Given the description of an element on the screen output the (x, y) to click on. 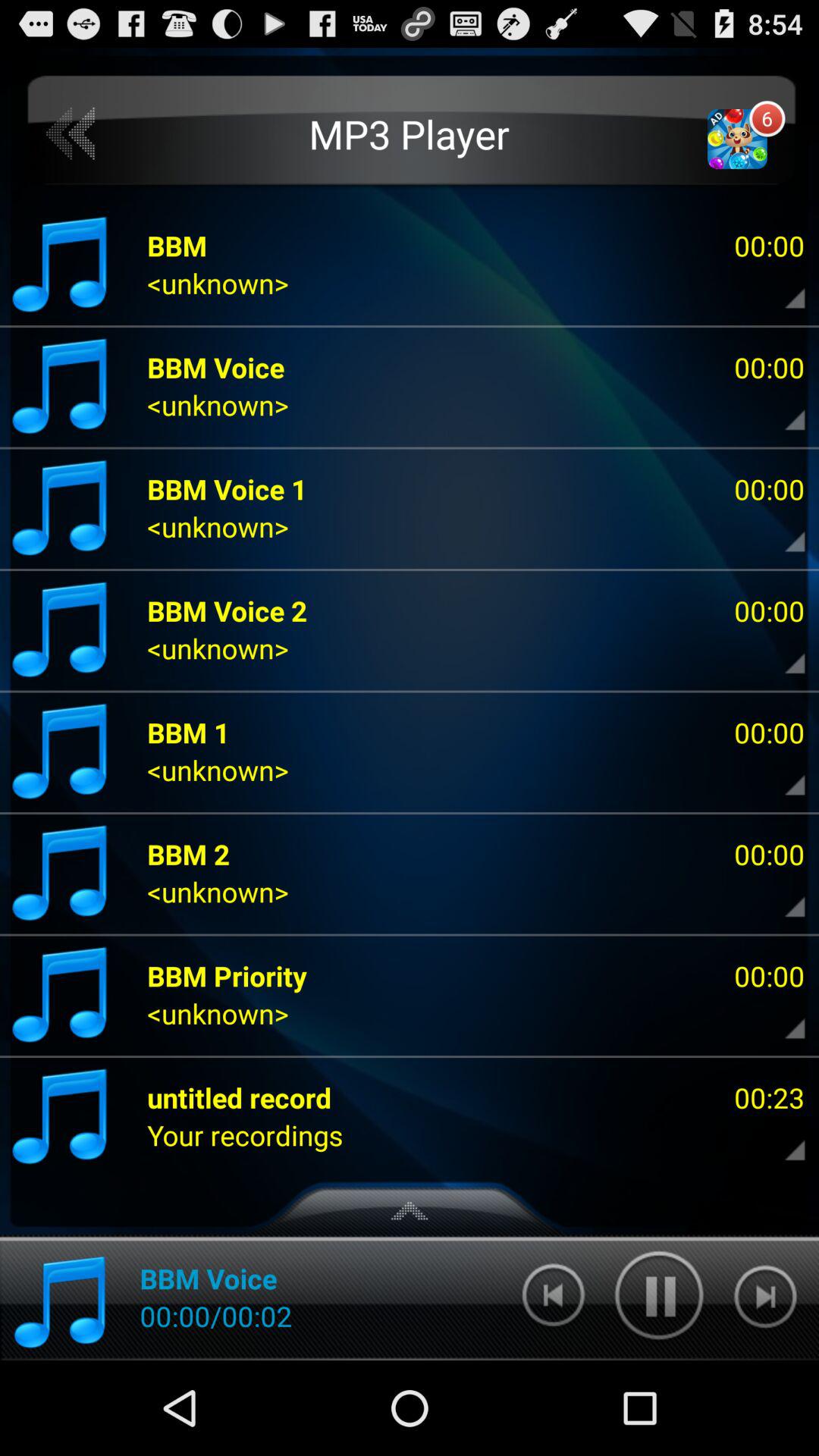
tap the bbm priority (227, 975)
